Given the description of an element on the screen output the (x, y) to click on. 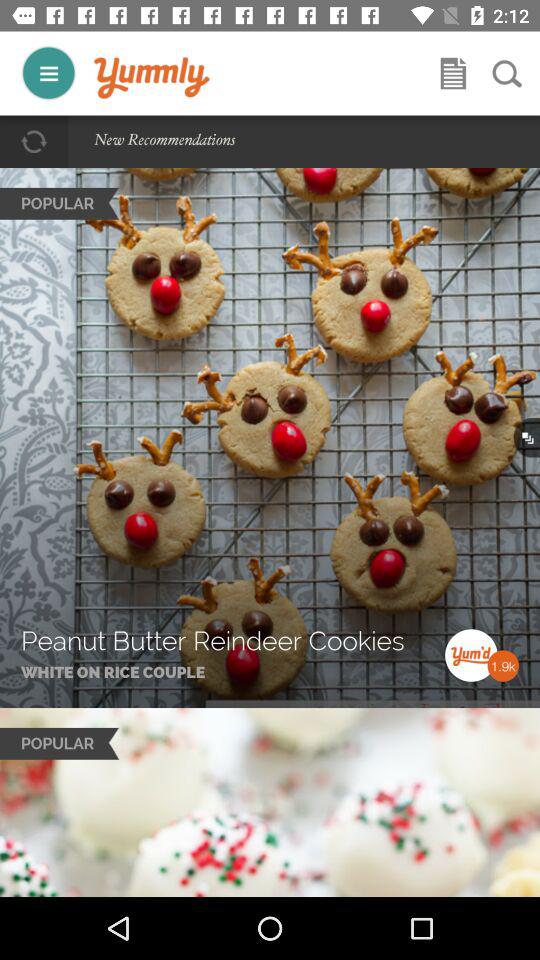
go to main page (152, 77)
